Given the description of an element on the screen output the (x, y) to click on. 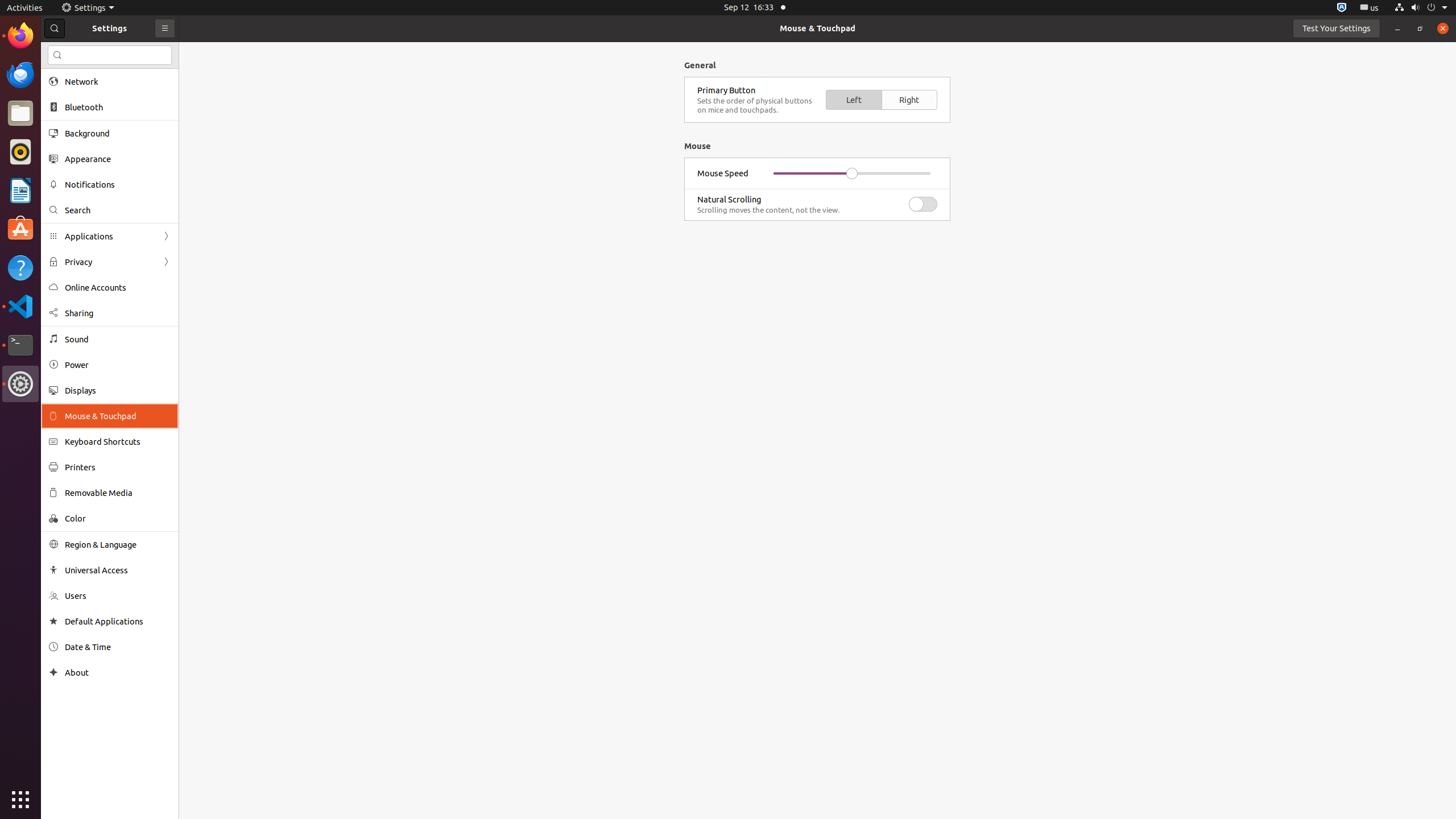
Search Element type: text (109, 54)
Appearance Element type: label (117, 158)
Trash Element type: label (75, 108)
